Given the description of an element on the screen output the (x, y) to click on. 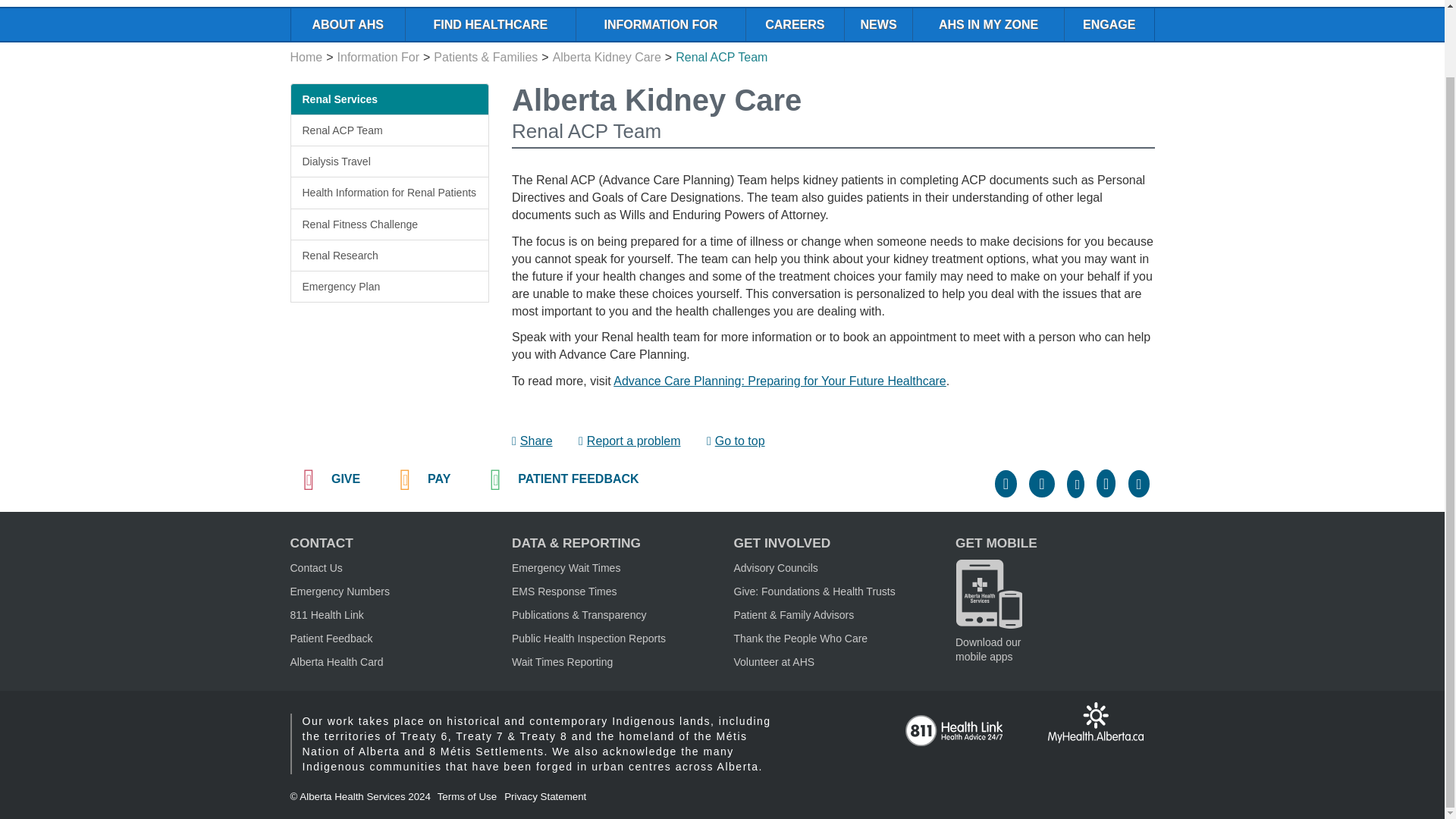
INFORMATION FOR (660, 24)
ABOUT AHS (346, 24)
FIND HEALTHCARE (489, 24)
